Given the description of an element on the screen output the (x, y) to click on. 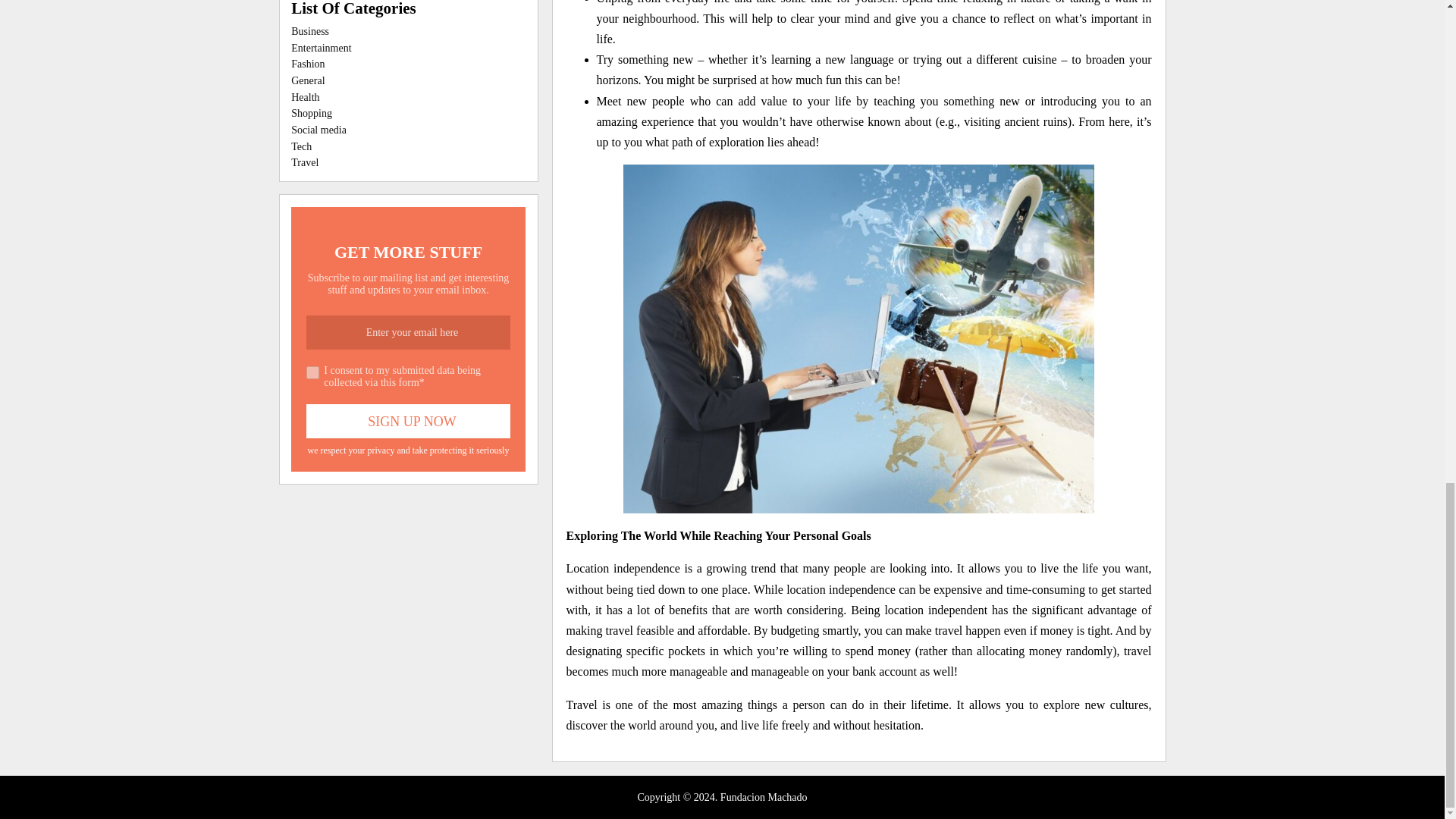
on (311, 372)
Fashion (307, 63)
Social media (318, 129)
Sign Up Now (408, 421)
Fundacion Machado (764, 797)
Health (304, 97)
Tech (301, 146)
Entertainment (320, 47)
Travel (304, 162)
Business (310, 30)
Sign Up Now (408, 421)
Shopping (311, 112)
General (307, 80)
